Given the description of an element on the screen output the (x, y) to click on. 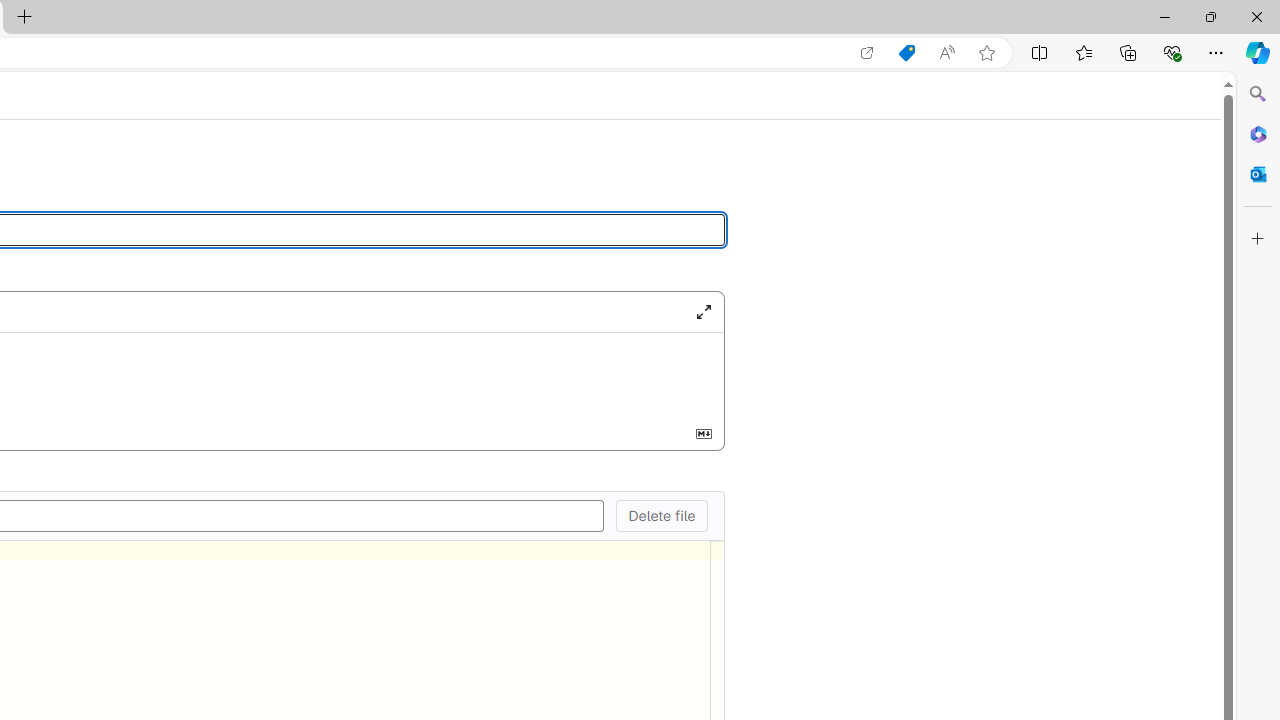
Delete file (661, 515)
Class: div-dropzone-icon s24 (97, 376)
Open in app (867, 53)
